Given the description of an element on the screen output the (x, y) to click on. 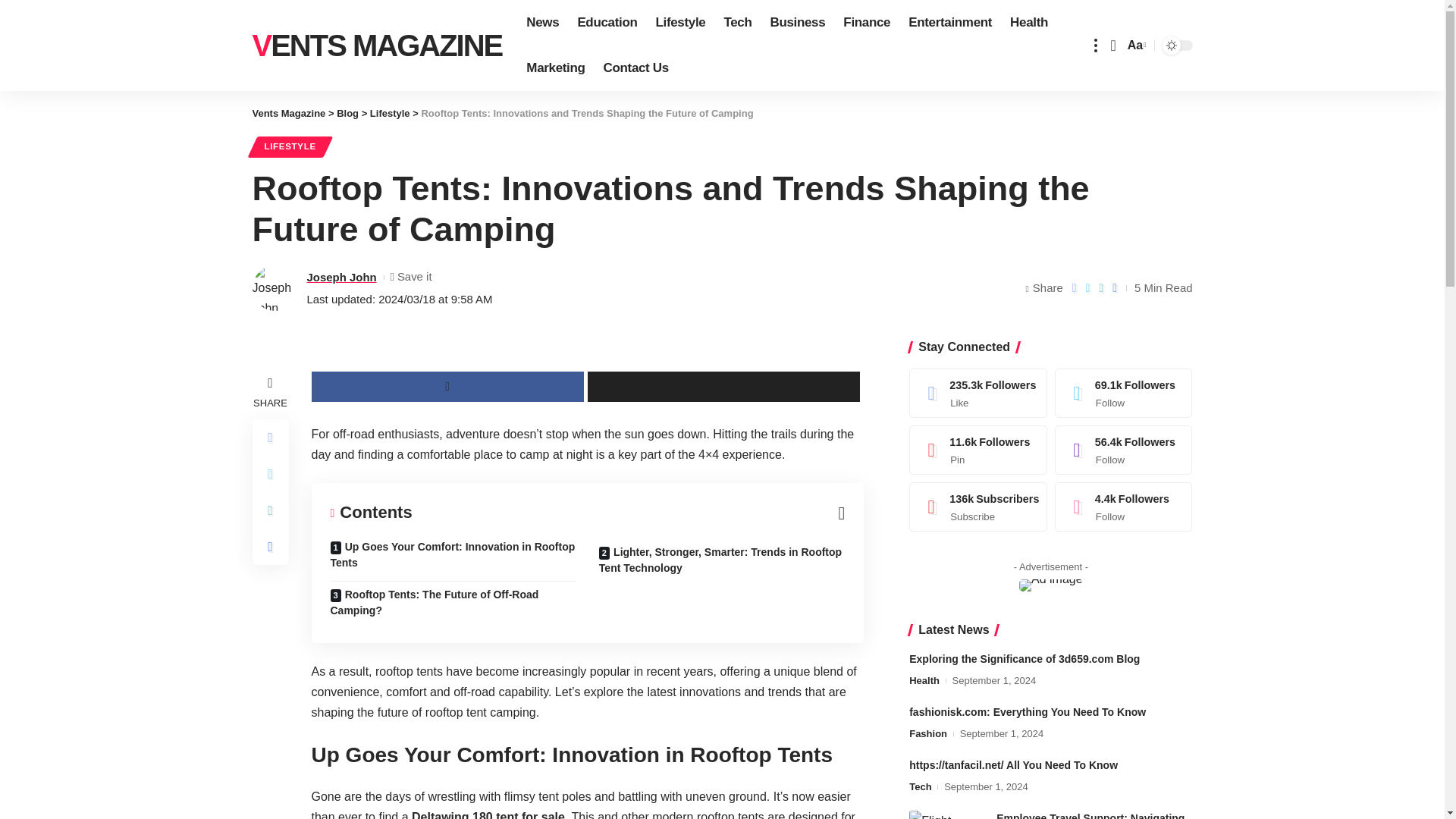
Aa (1135, 45)
Education (606, 22)
Marketing (555, 67)
Go to Blog. (347, 112)
Health (1029, 22)
VENTS MAGAZINE (376, 45)
Go to the Lifestyle Category archives. (389, 112)
Facebook (978, 392)
Dribbble (1123, 506)
Tech (737, 22)
